Given the description of an element on the screen output the (x, y) to click on. 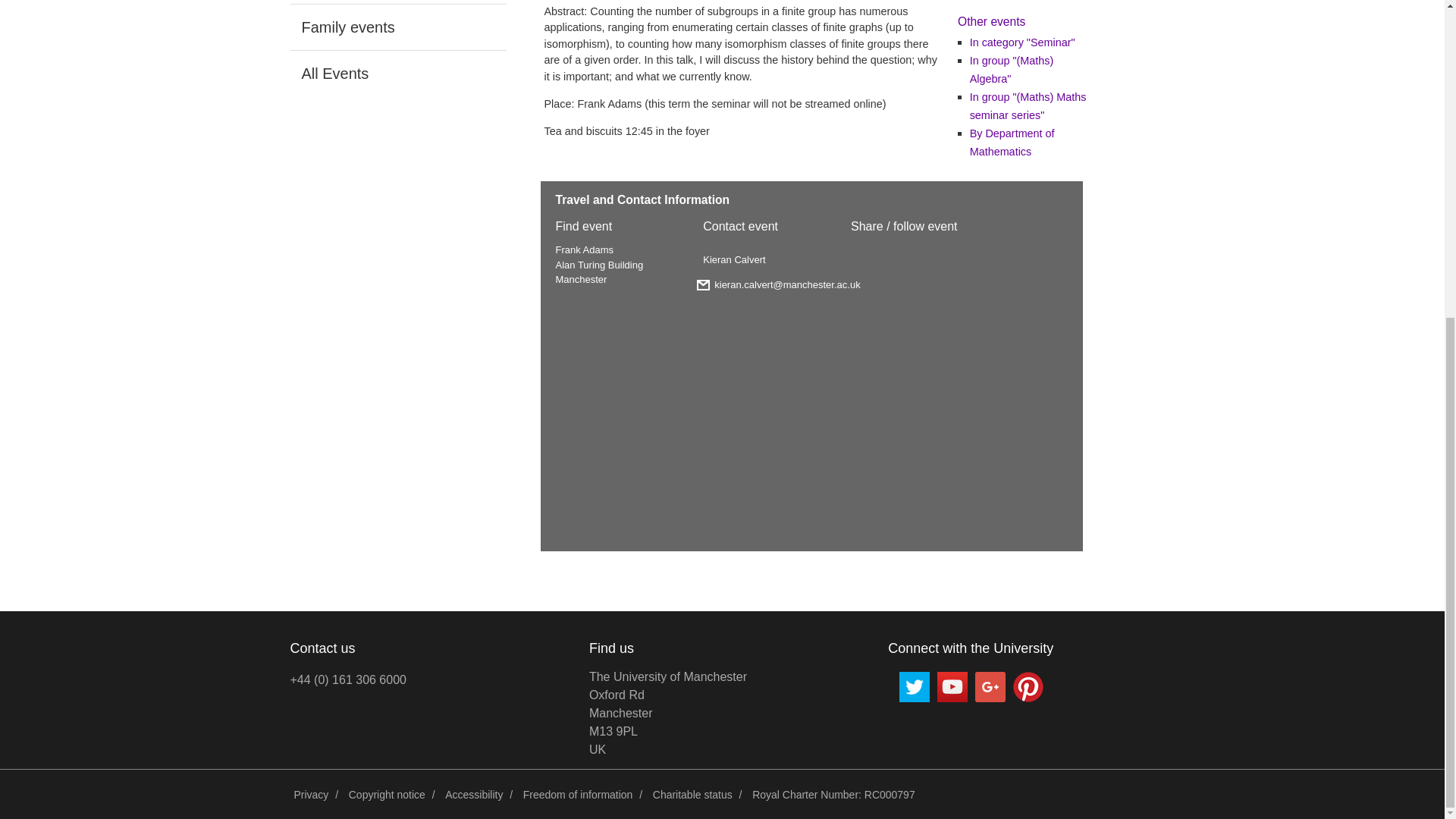
In category "Seminar" (1022, 42)
Department of Mathematics (1004, 0)
Privacy (667, 712)
By Department of Mathematics (310, 794)
Events for prospective students (1011, 142)
All Events (397, 2)
Family events (397, 73)
Copyright notice (397, 26)
Accessibility (387, 794)
